Given the description of an element on the screen output the (x, y) to click on. 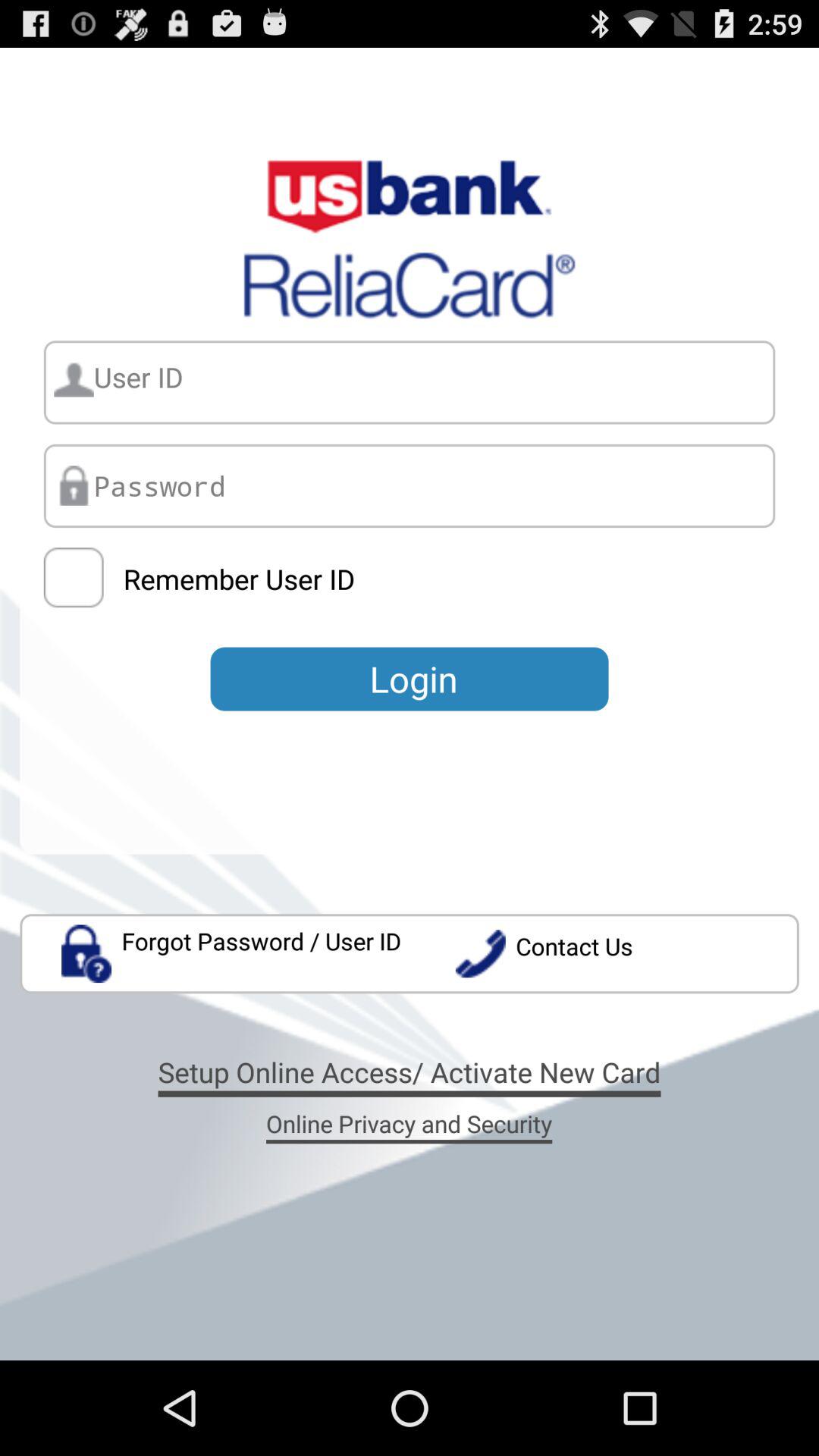
select item above setup online access app (626, 953)
